Given the description of an element on the screen output the (x, y) to click on. 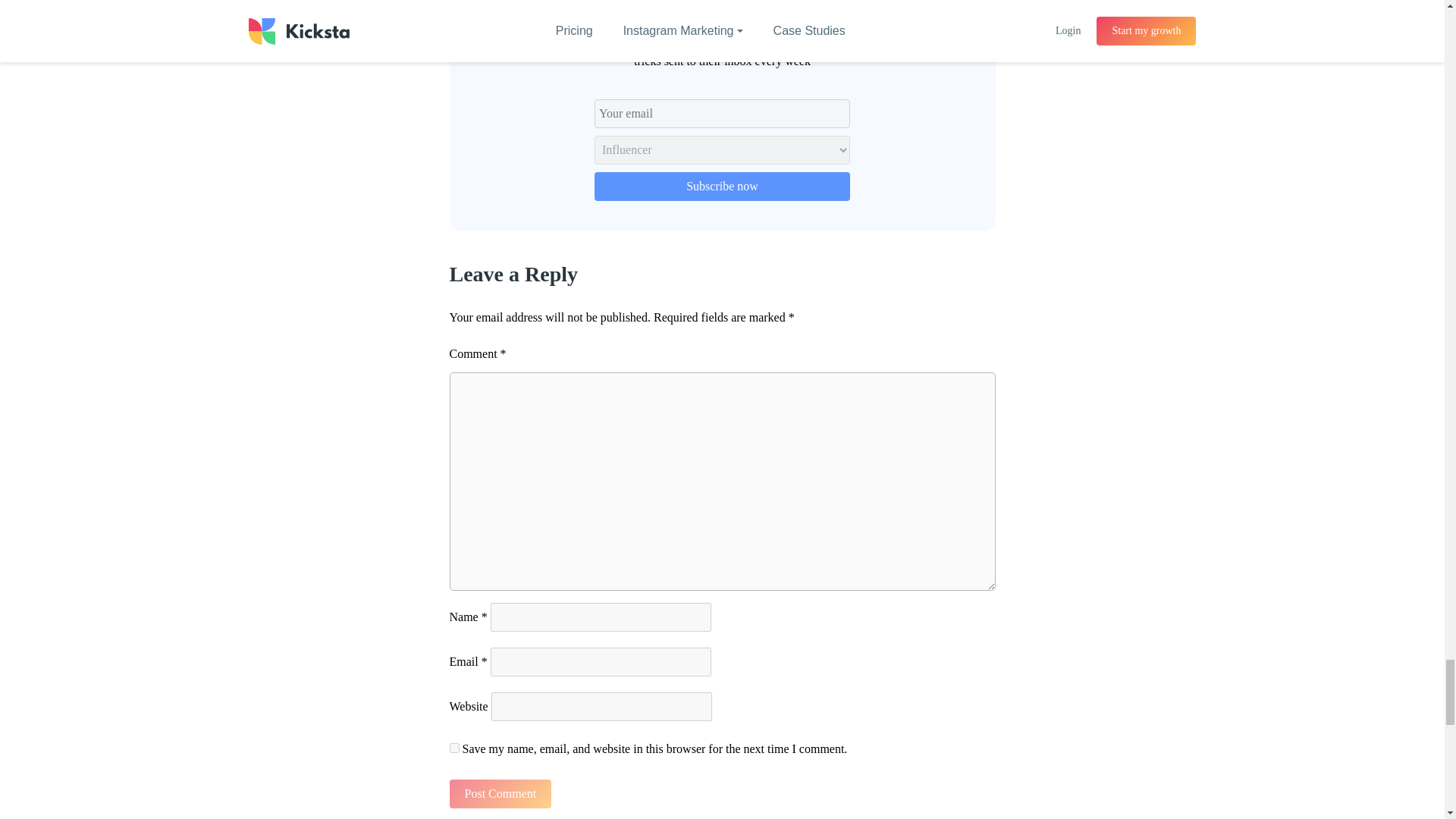
yes (453, 747)
Subscribe now (722, 185)
Post Comment (499, 793)
